Given the description of an element on the screen output the (x, y) to click on. 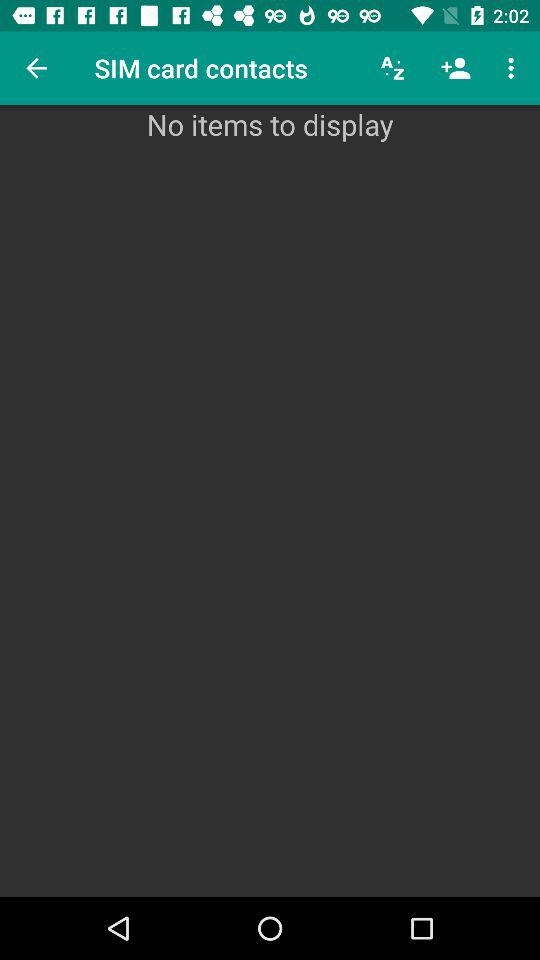
tap the icon next to sim card contacts item (36, 68)
